Given the description of an element on the screen output the (x, y) to click on. 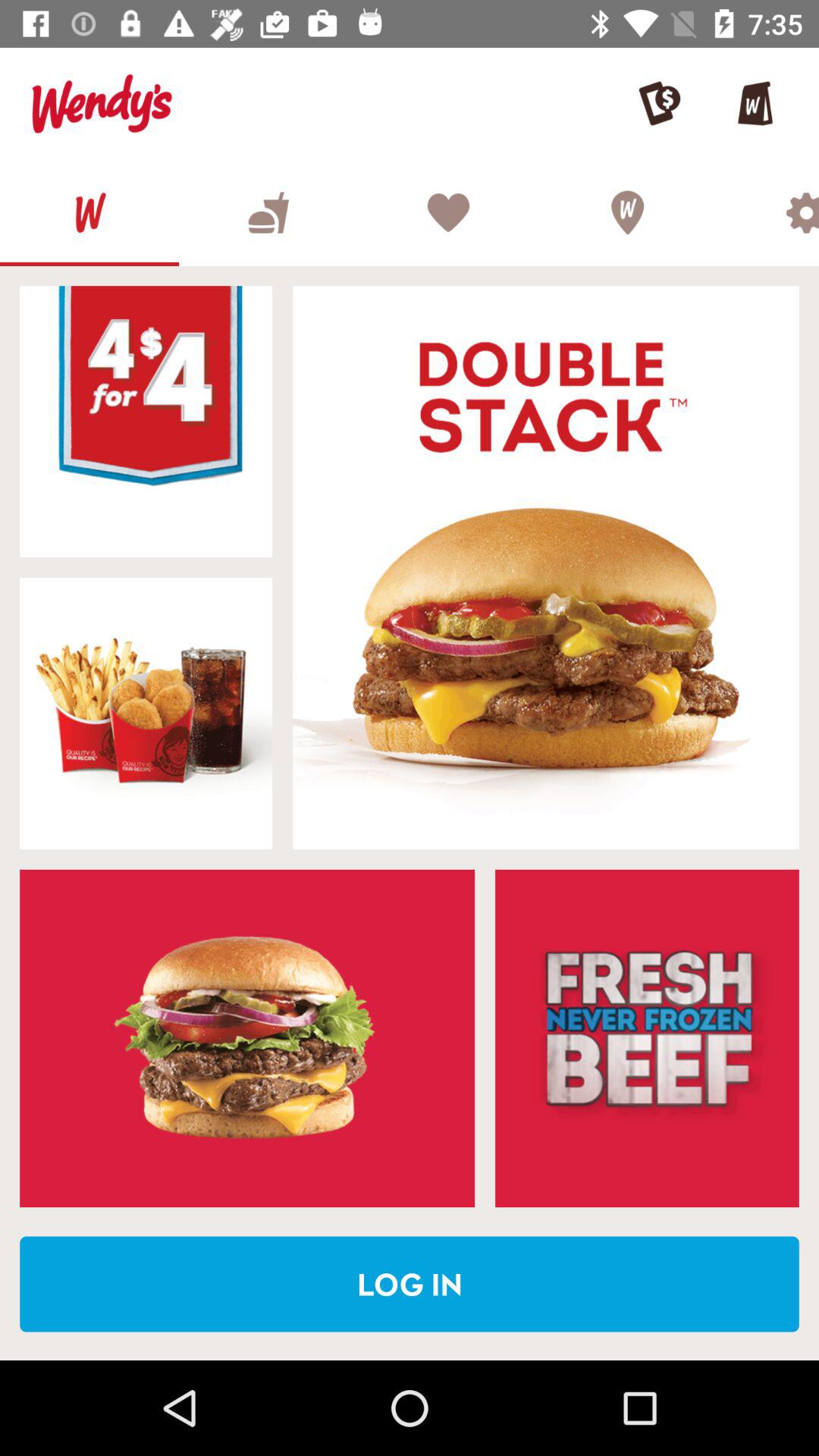
open favorites (447, 212)
